Given the description of an element on the screen output the (x, y) to click on. 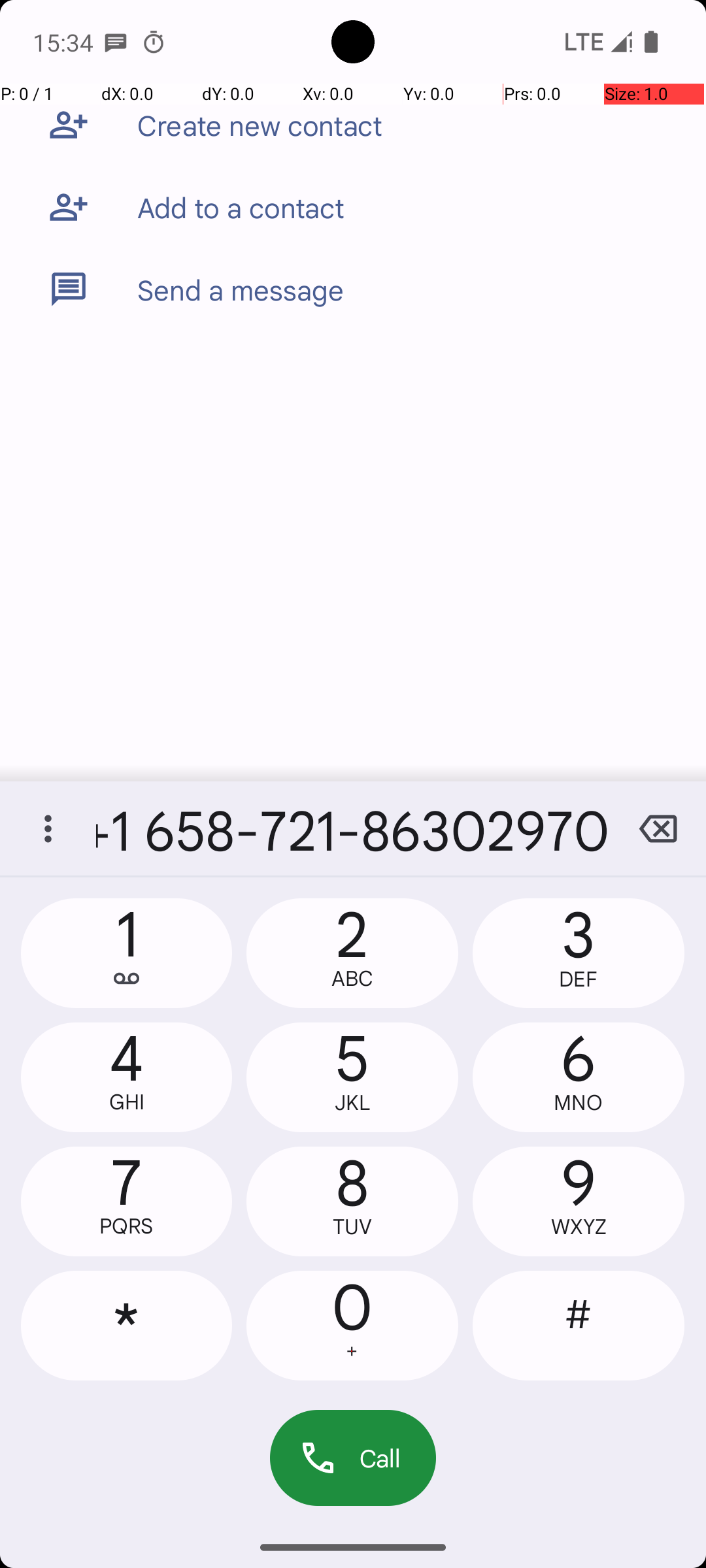
+1 658-721-86302970 Element type: android.widget.EditText (352, 828)
